Given the description of an element on the screen output the (x, y) to click on. 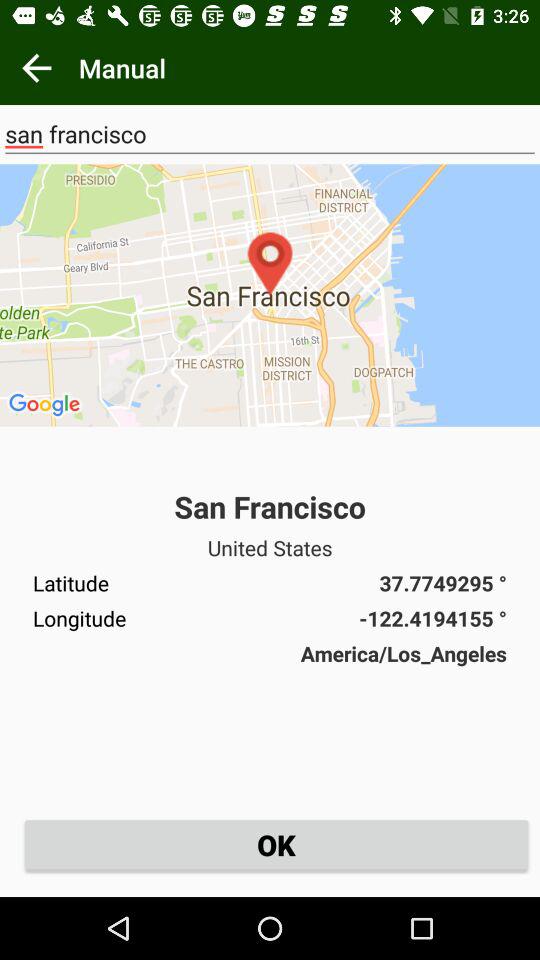
return to previous page (36, 68)
